Given the description of an element on the screen output the (x, y) to click on. 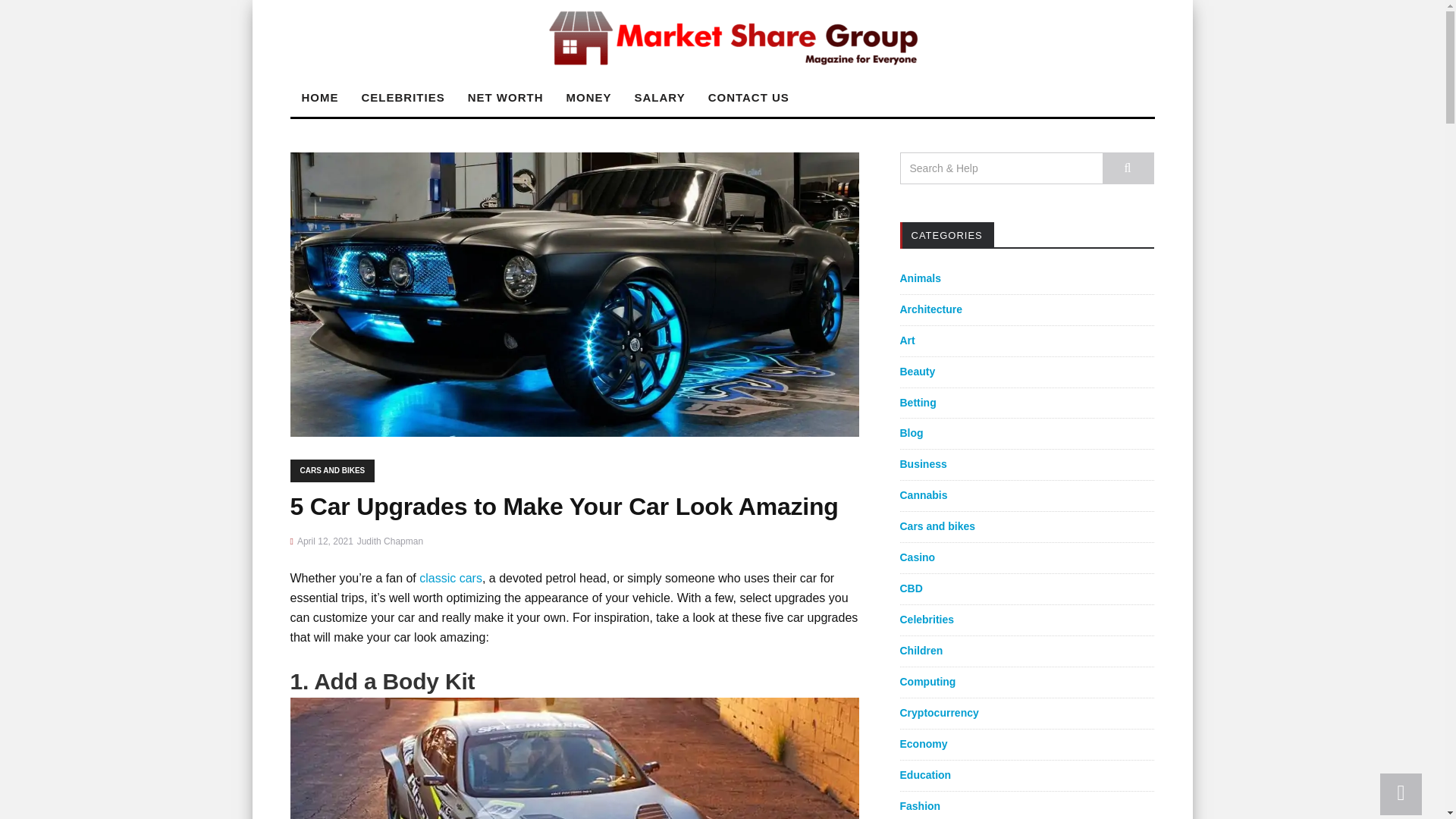
Casino (916, 557)
Judith Chapman (389, 541)
Celebrities (926, 619)
5 Car Upgrades to Make Your Car Look Amazing (574, 293)
CONTACT US (748, 97)
HOME (319, 97)
CELEBRITIES (403, 97)
Posts by Judith Chapman (389, 541)
Money (588, 97)
Beauty (916, 371)
Business (922, 463)
Search (1128, 168)
Contact Us (748, 97)
classic cars (450, 577)
NET WORTH (505, 97)
